Given the description of an element on the screen output the (x, y) to click on. 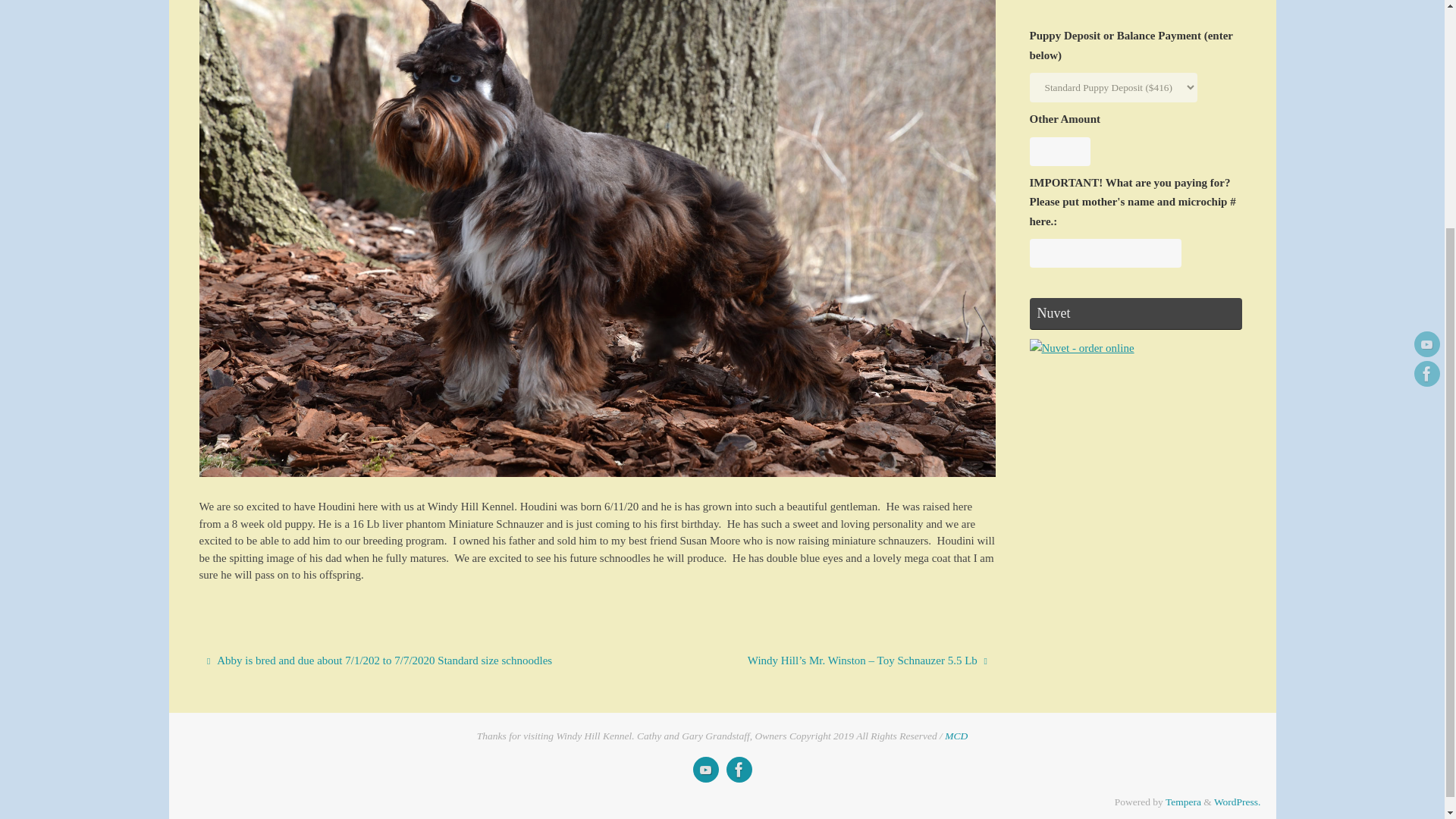
Facebook (1426, 61)
MCD (956, 736)
Youtube (1426, 31)
